Given the description of an element on the screen output the (x, y) to click on. 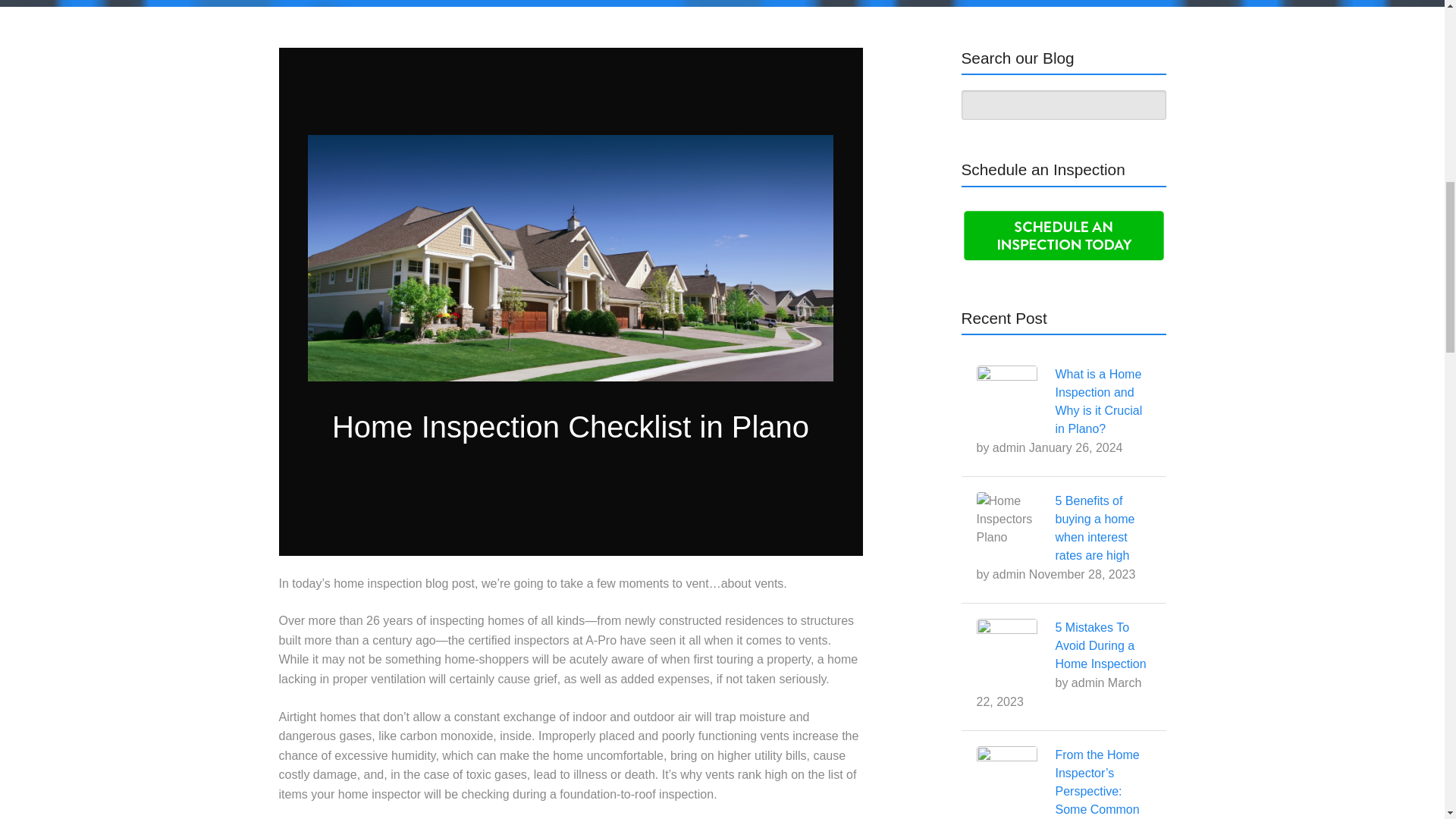
What is a Home Inspection and Why is it Crucial in Plano? (1098, 400)
5 Benefits of buying a home when interest rates are high (1095, 527)
What is a Home Inspection and Why is it Crucial in Plano? (1098, 400)
5 Mistakes To Avoid During a Home Inspection (1101, 645)
